Given the description of an element on the screen output the (x, y) to click on. 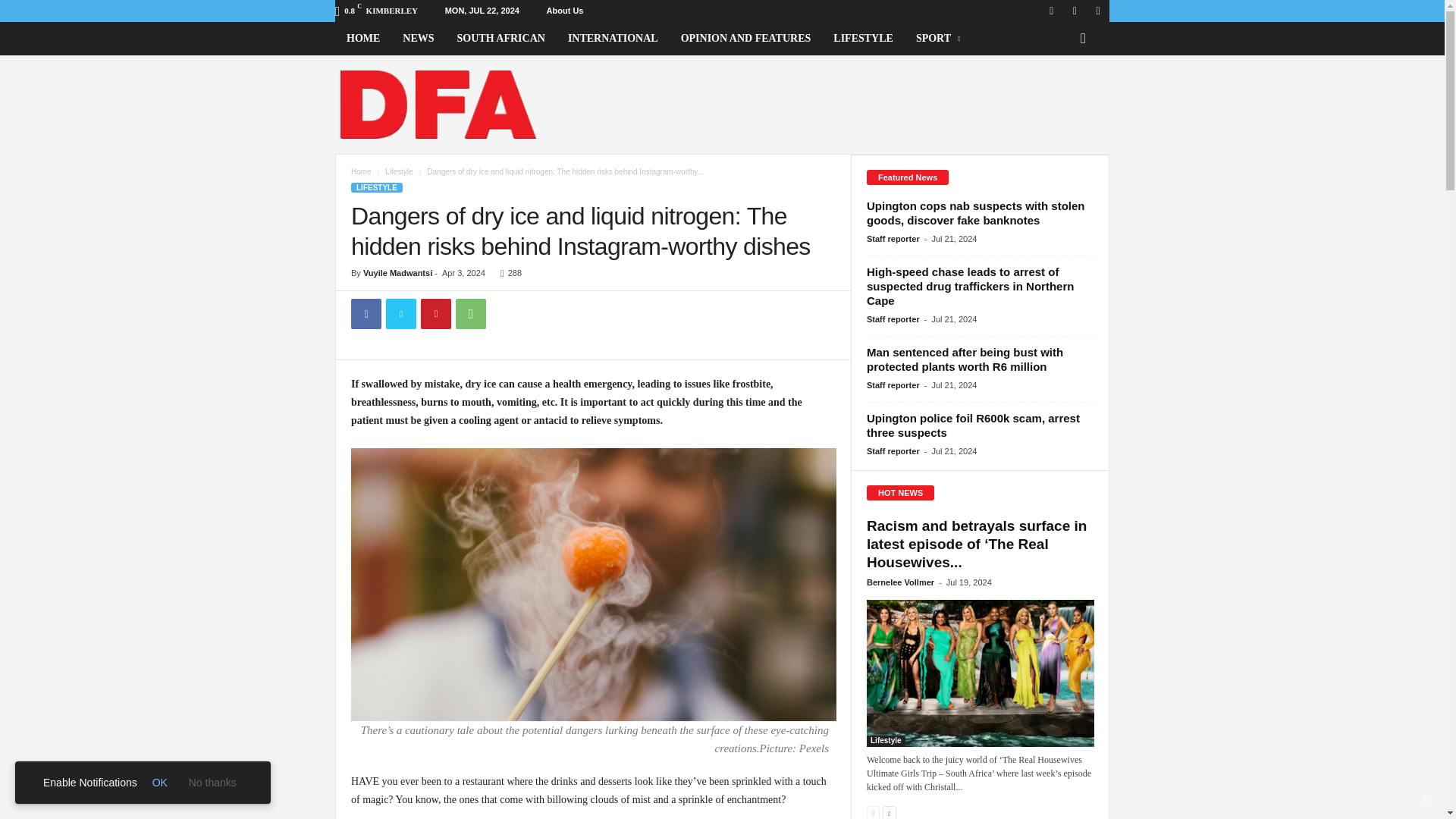
HOME (362, 38)
About Us (565, 10)
OPINION AND FEATURES (745, 38)
Vuyile Madwantsi (397, 272)
Twitter (400, 313)
INTERNATIONAL (612, 38)
DFA (437, 104)
NEWS (418, 38)
SOUTH AFRICAN (500, 38)
Lifestyle (399, 171)
Pinterest (435, 313)
LIFESTYLE (863, 38)
DFA (437, 104)
Facebook (365, 313)
LIFESTYLE (376, 187)
